Given the description of an element on the screen output the (x, y) to click on. 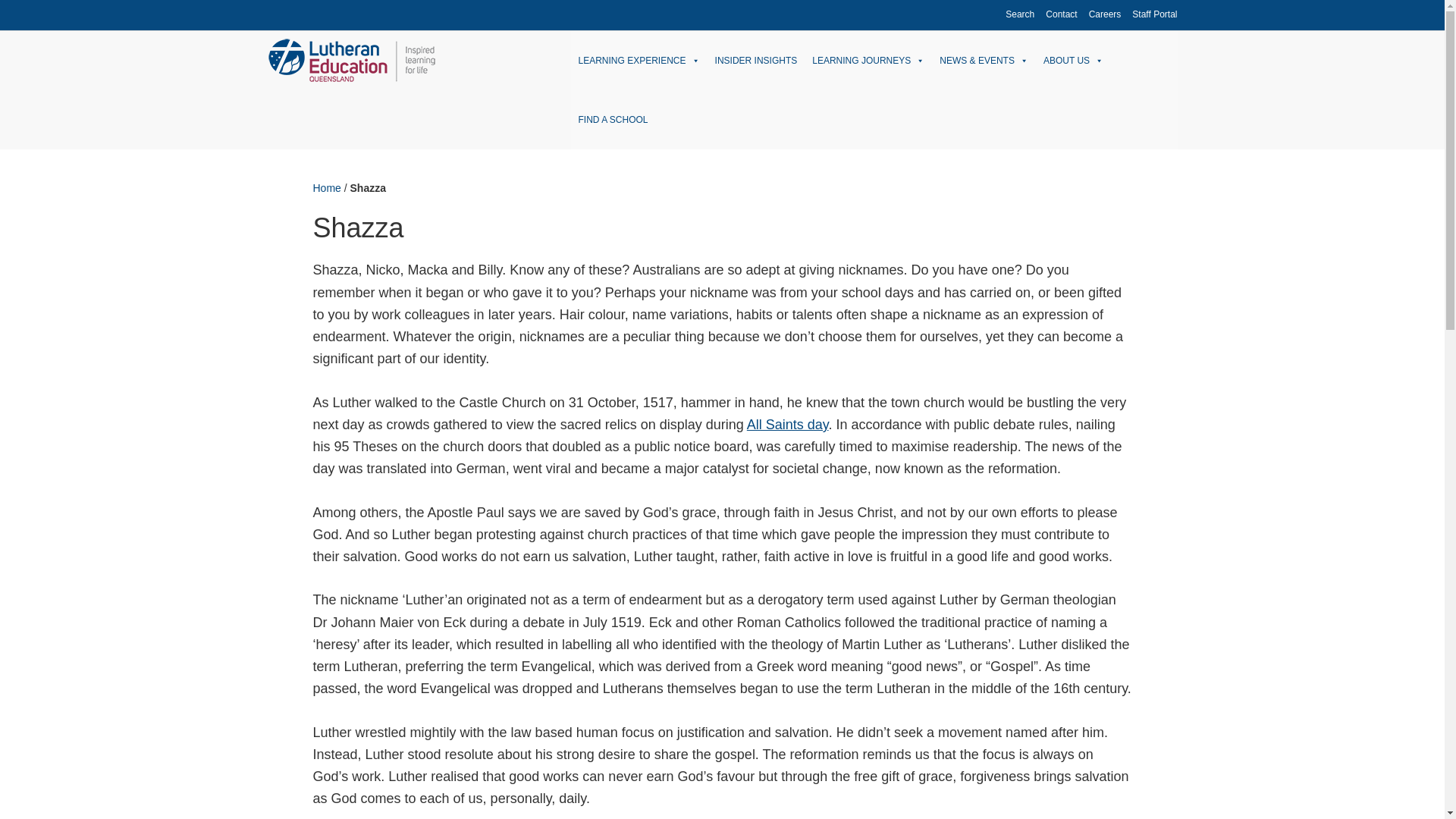
INSIDER INSIGHTS (756, 59)
Contact (1061, 14)
Staff Portal (1154, 14)
Careers (1105, 14)
Search (1019, 14)
Lutheran Education Queensland (403, 59)
LEARNING EXPERIENCE (638, 59)
